Given the description of an element on the screen output the (x, y) to click on. 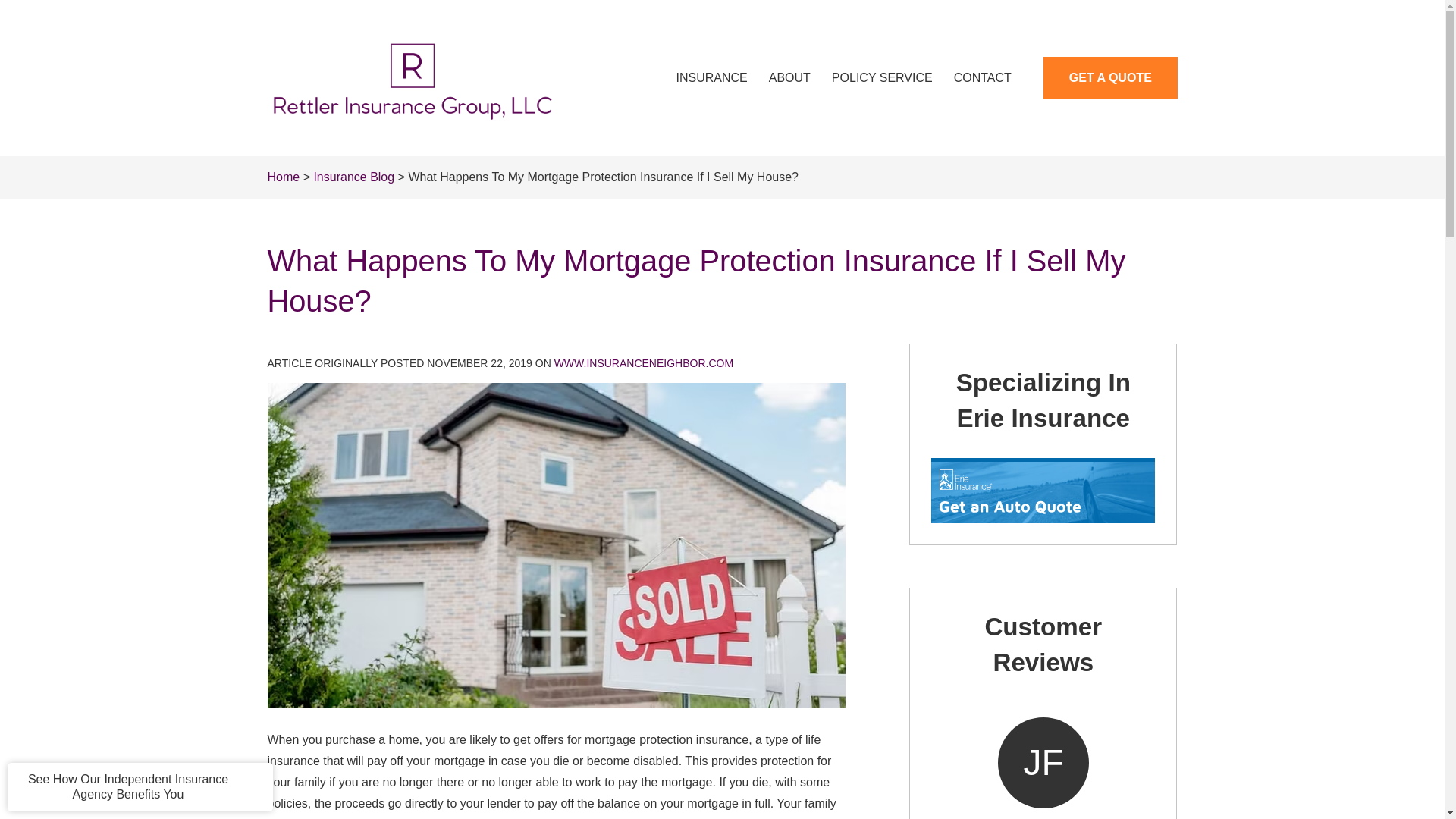
CONTACT (982, 77)
POLICY SERVICE (882, 77)
ABOUT (789, 77)
Rettler Insurance Group, West Bend (411, 77)
INSURANCE (711, 77)
GET A QUOTE (1110, 77)
ERIE Auto Insurance Quote (1033, 492)
